Given the description of an element on the screen output the (x, y) to click on. 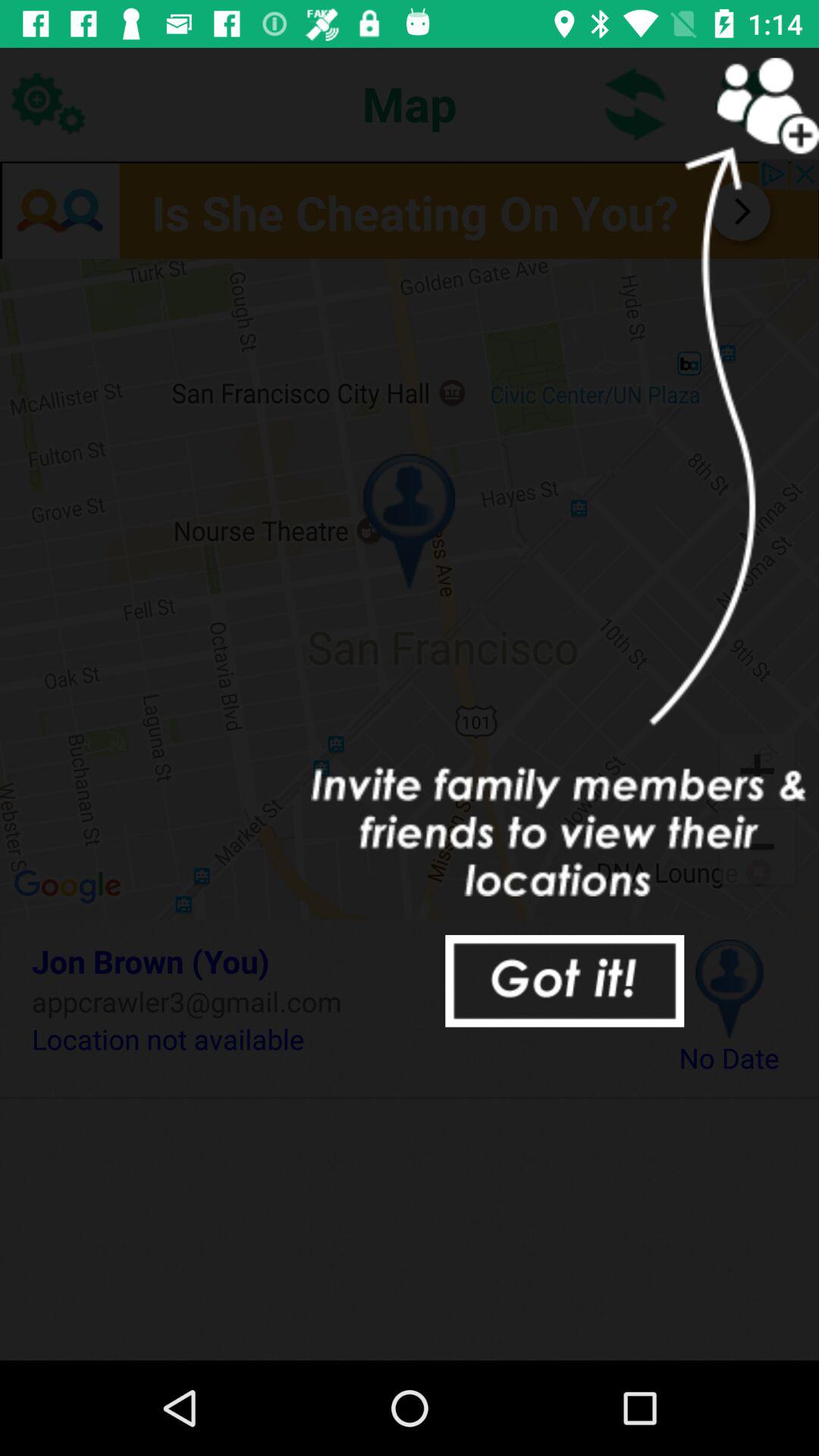
turn off the item next to map (635, 103)
